Given the description of an element on the screen output the (x, y) to click on. 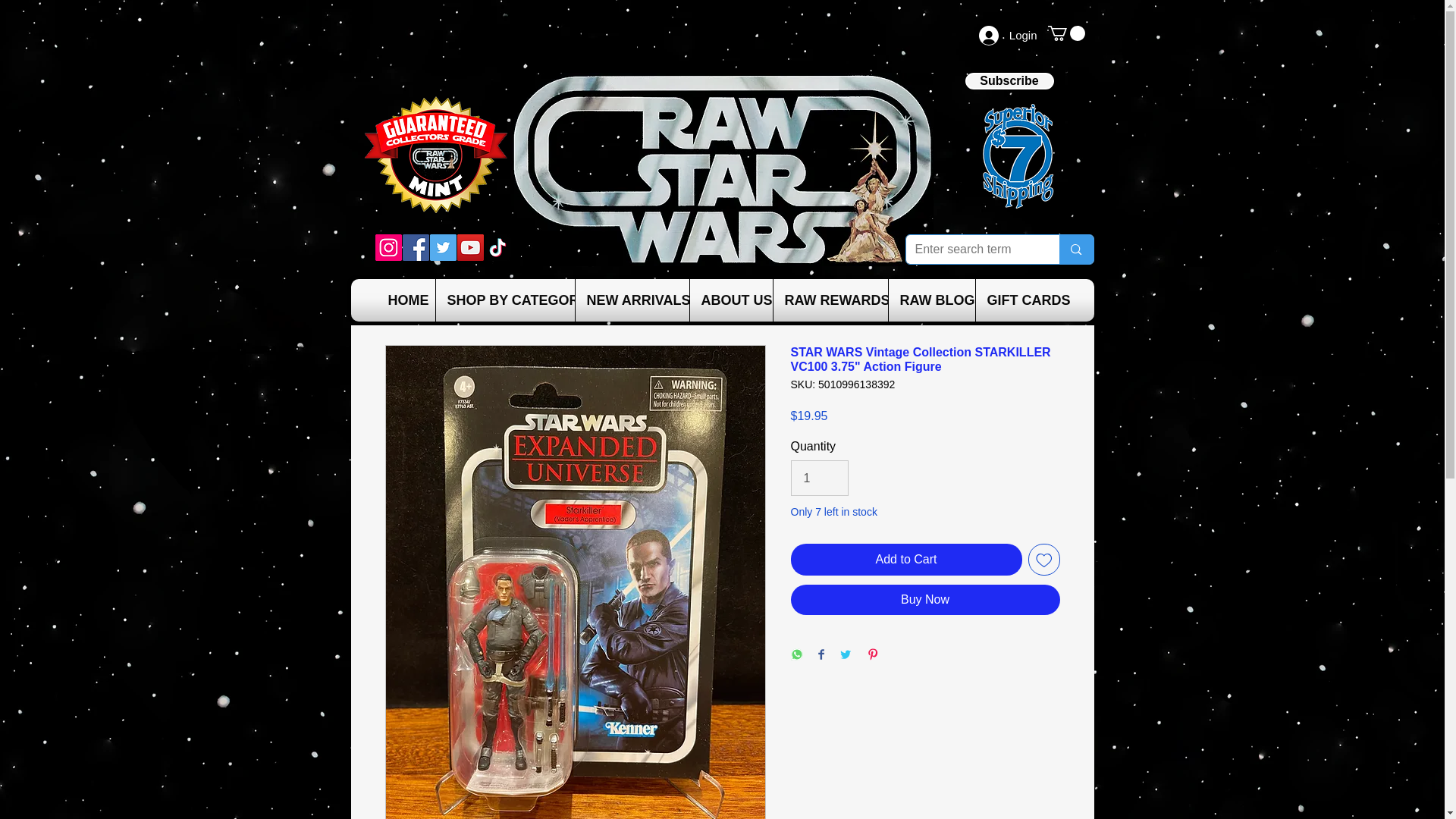
HOME (405, 300)
1 (818, 477)
SHOP BY CATEGORY (504, 300)
NEW ARRIVALS (632, 300)
Login (1008, 35)
ABOUT US (730, 300)
Subscribe (1007, 80)
